Given the description of an element on the screen output the (x, y) to click on. 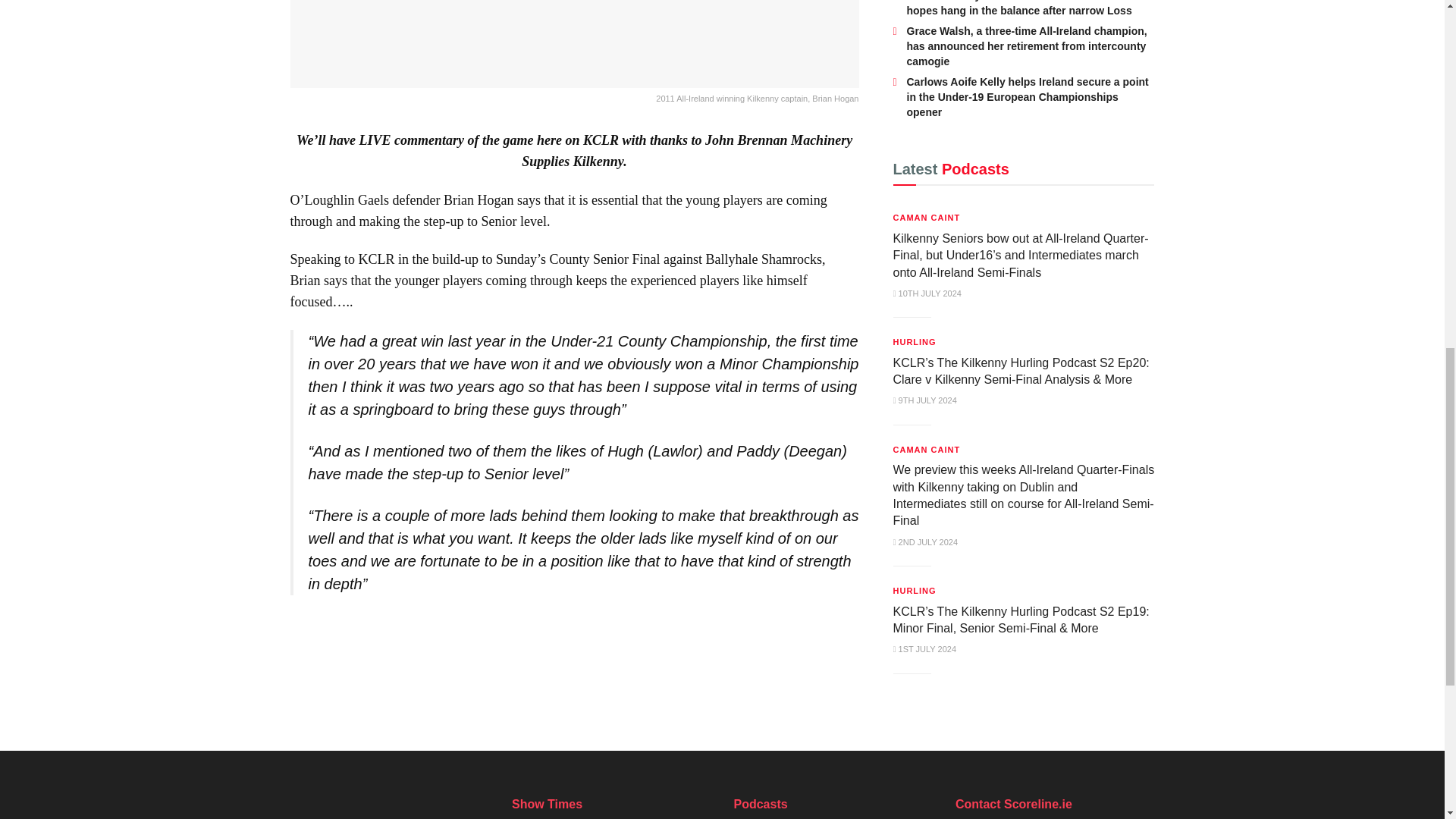
9TH JULY 2024 (924, 399)
CAMAN CAINT (926, 217)
2011 All-Ireland winning Kilkenny captain, Brian Hogan (574, 53)
10TH JULY 2024 (926, 293)
HURLING (914, 341)
